Given the description of an element on the screen output the (x, y) to click on. 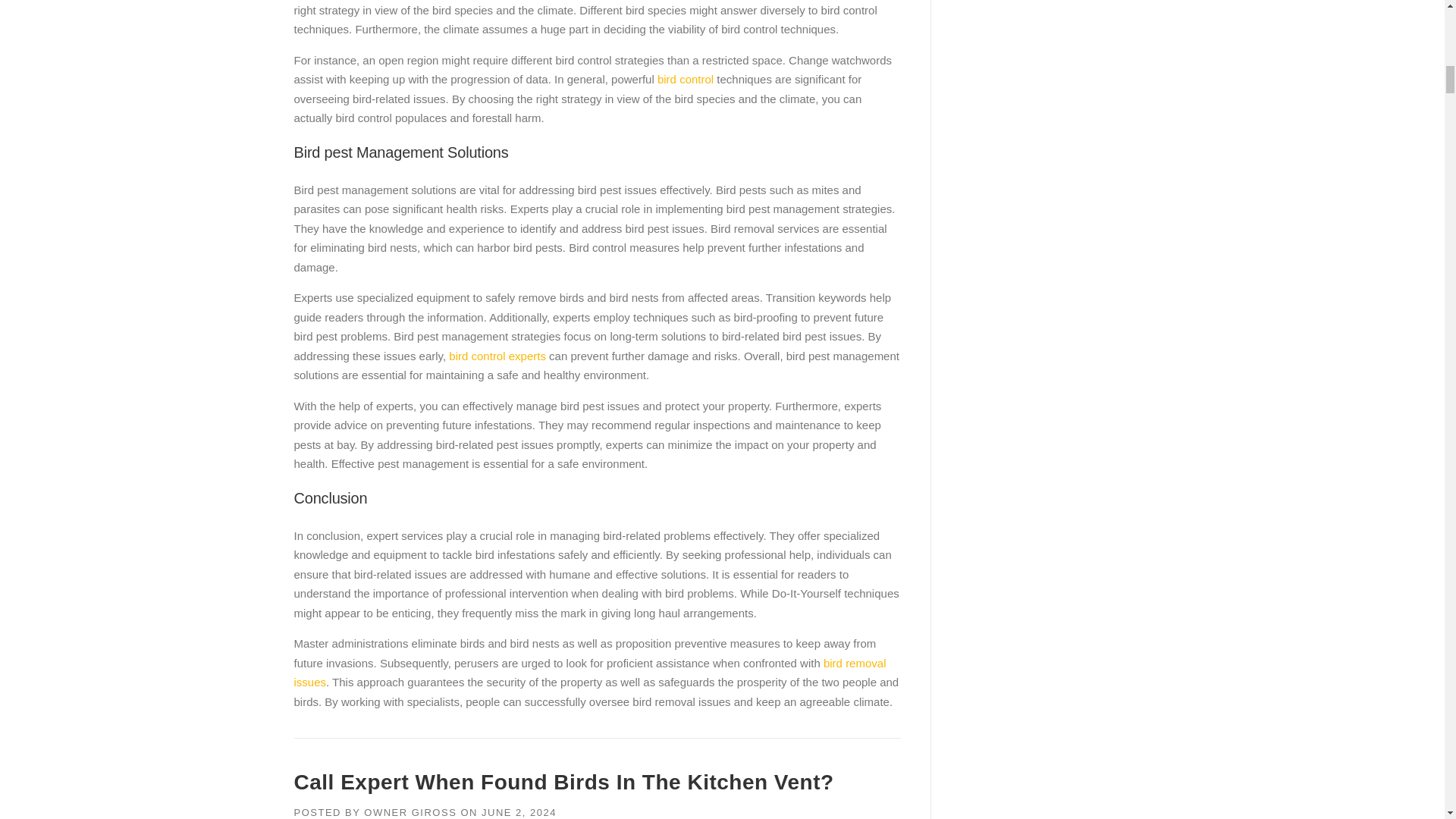
bird control experts (497, 355)
OWNER GIROSS (410, 812)
Call Expert When Found Birds In The Kitchen Vent? (564, 781)
bird control (683, 78)
JUNE 2, 2024 (518, 812)
bird removal issues (590, 672)
